Given the description of an element on the screen output the (x, y) to click on. 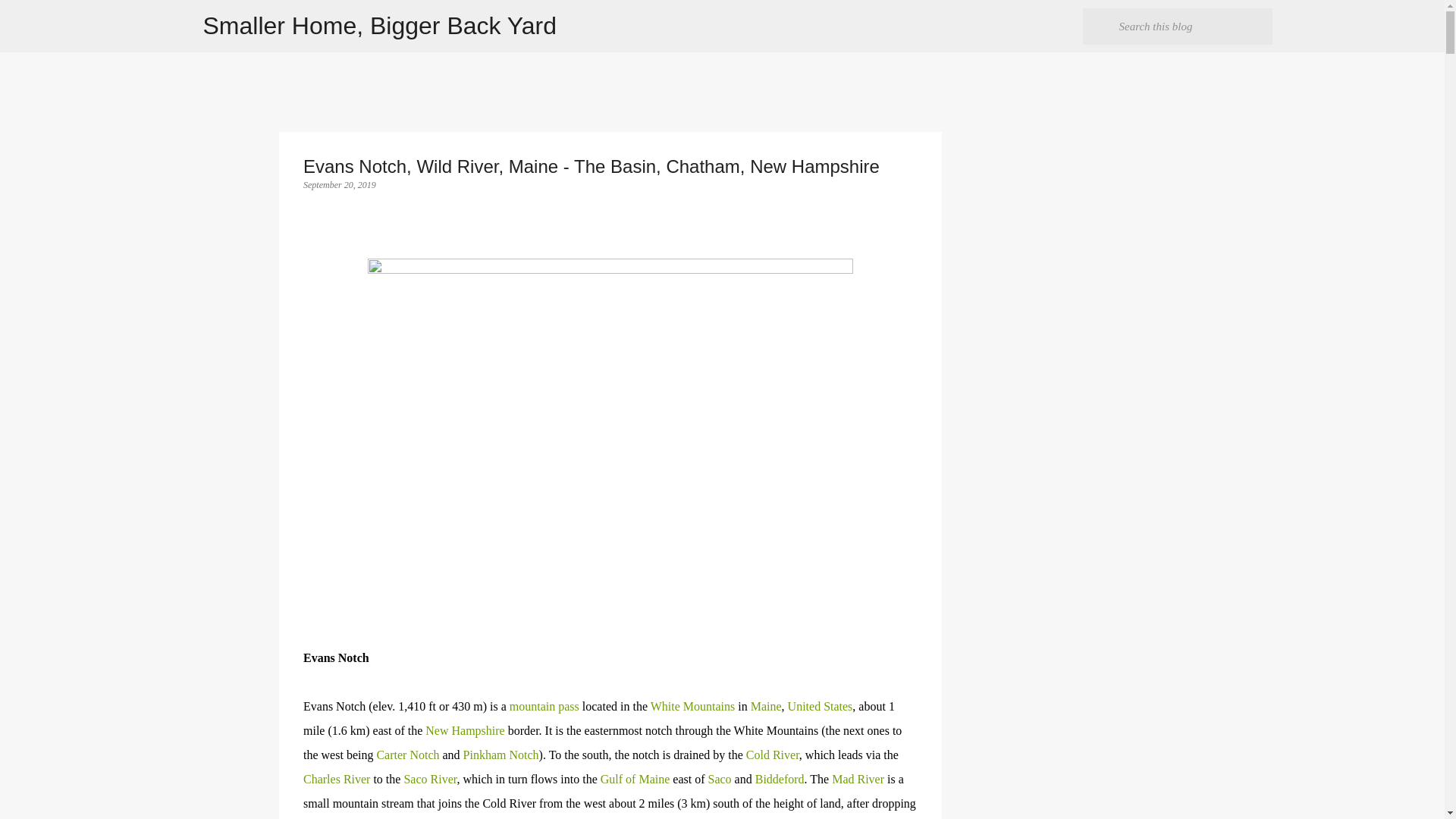
Smaller Home, Bigger Back Yard (380, 25)
Cold River (772, 754)
Saco River (430, 779)
permanent link (338, 184)
Pinkham Notch (500, 754)
White Mountains (692, 706)
September 20, 2019 (338, 184)
United States (820, 706)
Gulf of Maine (634, 779)
Saco (718, 779)
Mad River (857, 779)
mountain pass (544, 706)
Carter Notch (407, 754)
Maine (766, 706)
New Hampshire (464, 730)
